Given the description of an element on the screen output the (x, y) to click on. 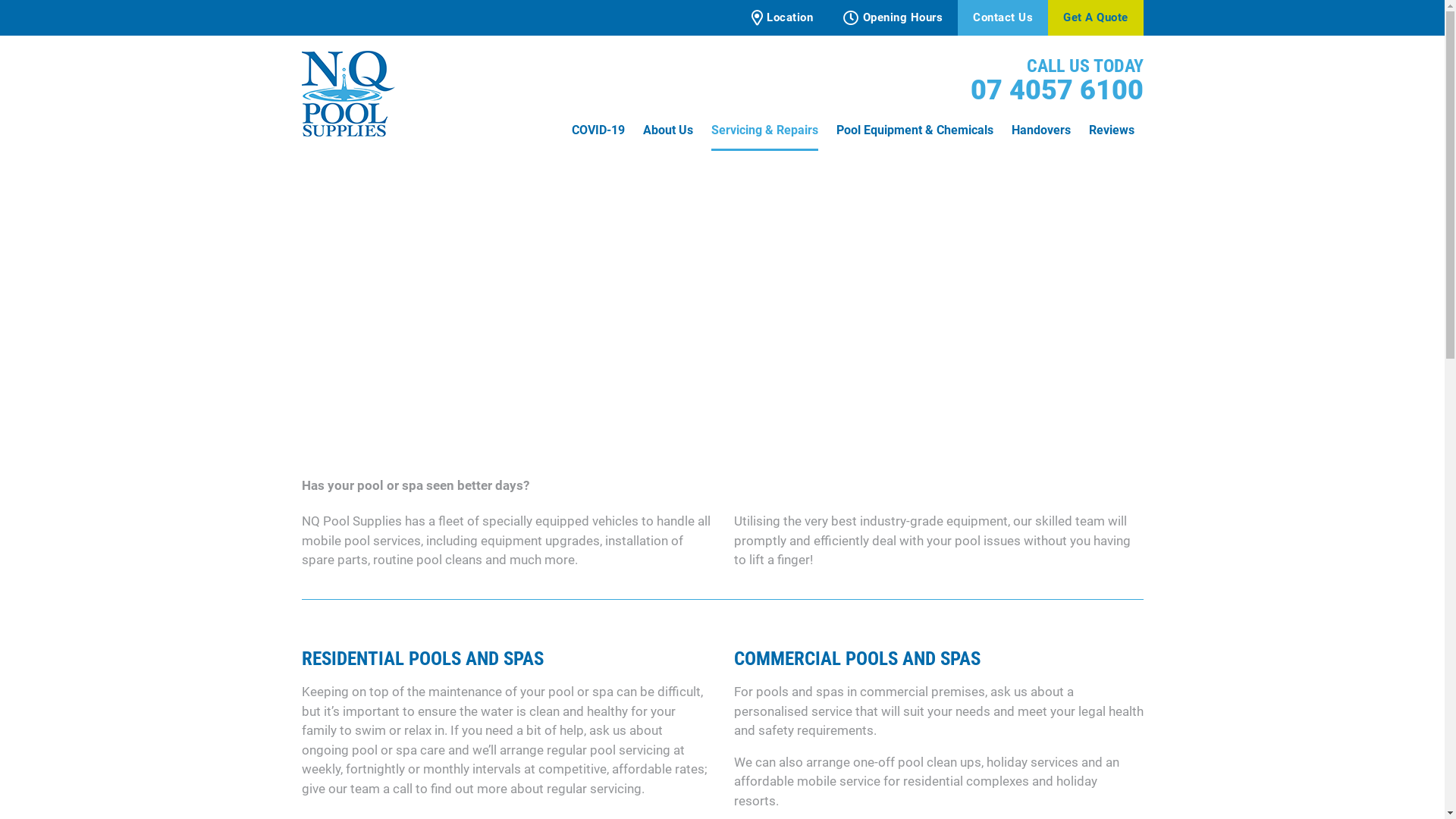
Contact Us Element type: text (1002, 17)
Location Element type: text (781, 17)
Get A Quote Element type: text (1095, 17)
Handovers Element type: text (1040, 131)
About Us Element type: text (668, 131)
Opening Hours Element type: text (892, 17)
COVID-19 Element type: text (597, 131)
Servicing & Repairs Element type: text (764, 131)
Reviews Element type: text (1111, 131)
Pool Equipment & Chemicals Element type: text (913, 131)
07 4057 6100 Element type: text (1056, 90)
